Given the description of an element on the screen output the (x, y) to click on. 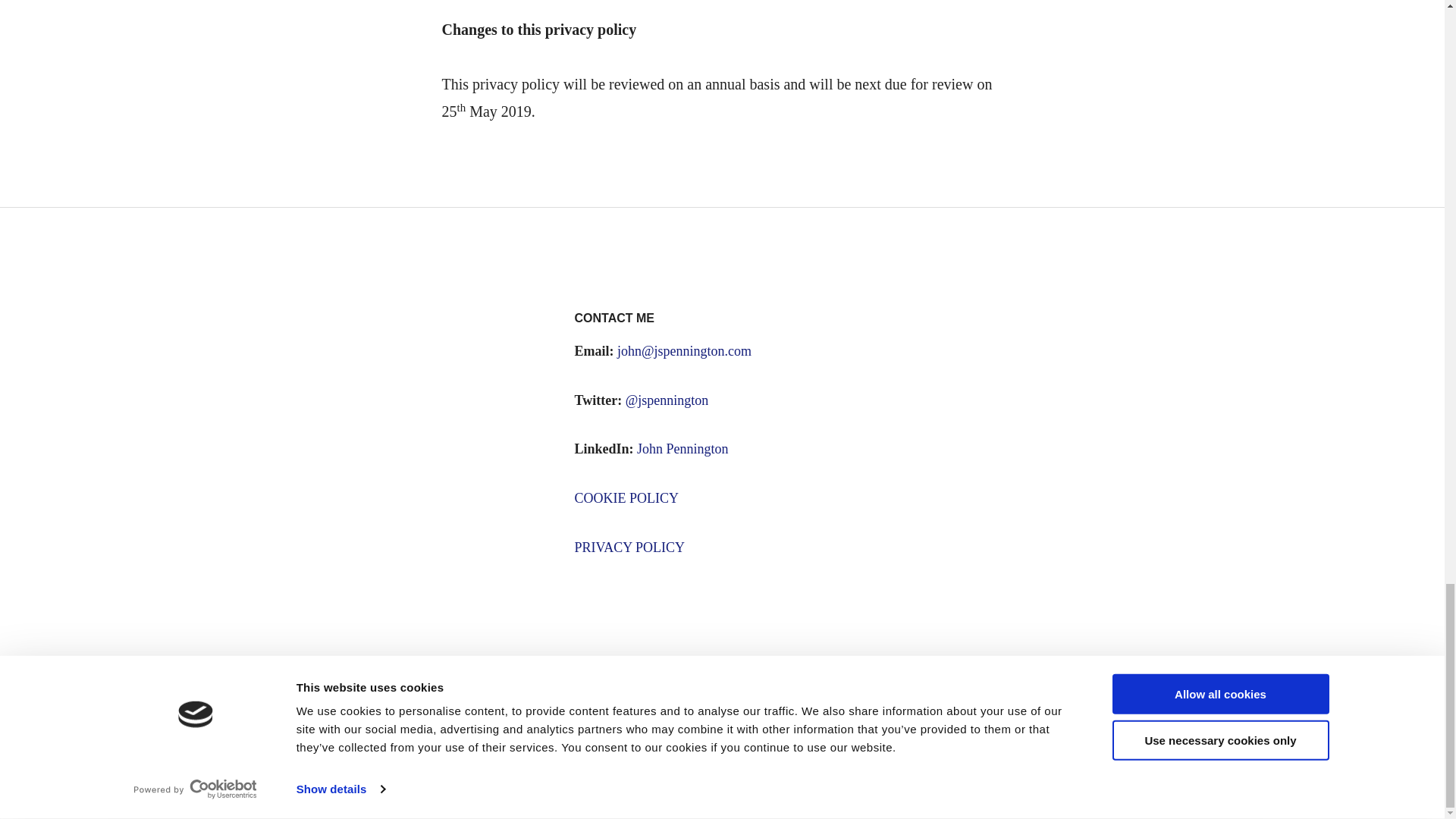
E-mail (660, 688)
